Given the description of an element on the screen output the (x, y) to click on. 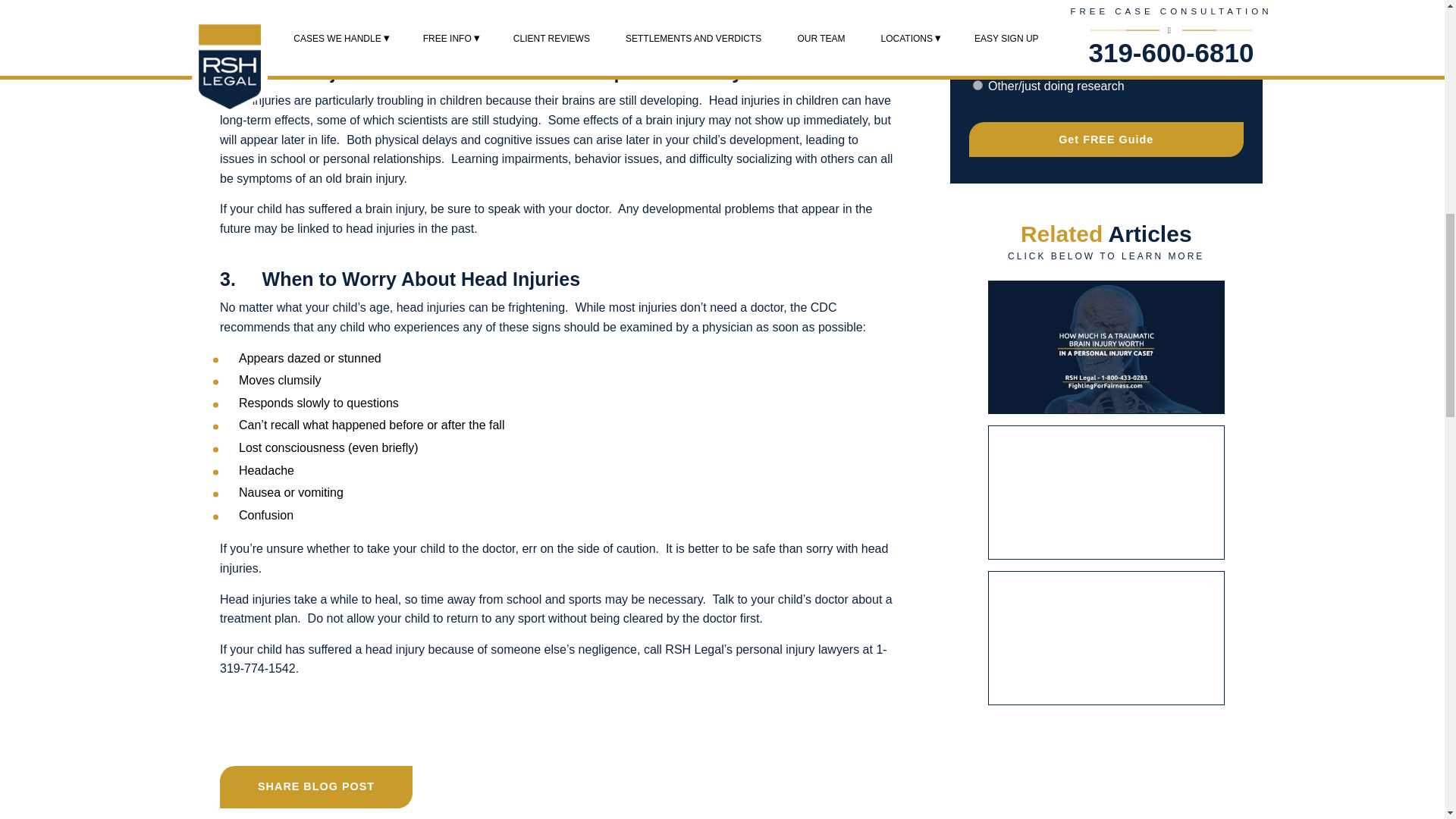
617 (976, 54)
615 (976, 40)
619 (976, 70)
613 (976, 24)
Get FREE Guide (1106, 139)
623 (976, 85)
